Given the description of an element on the screen output the (x, y) to click on. 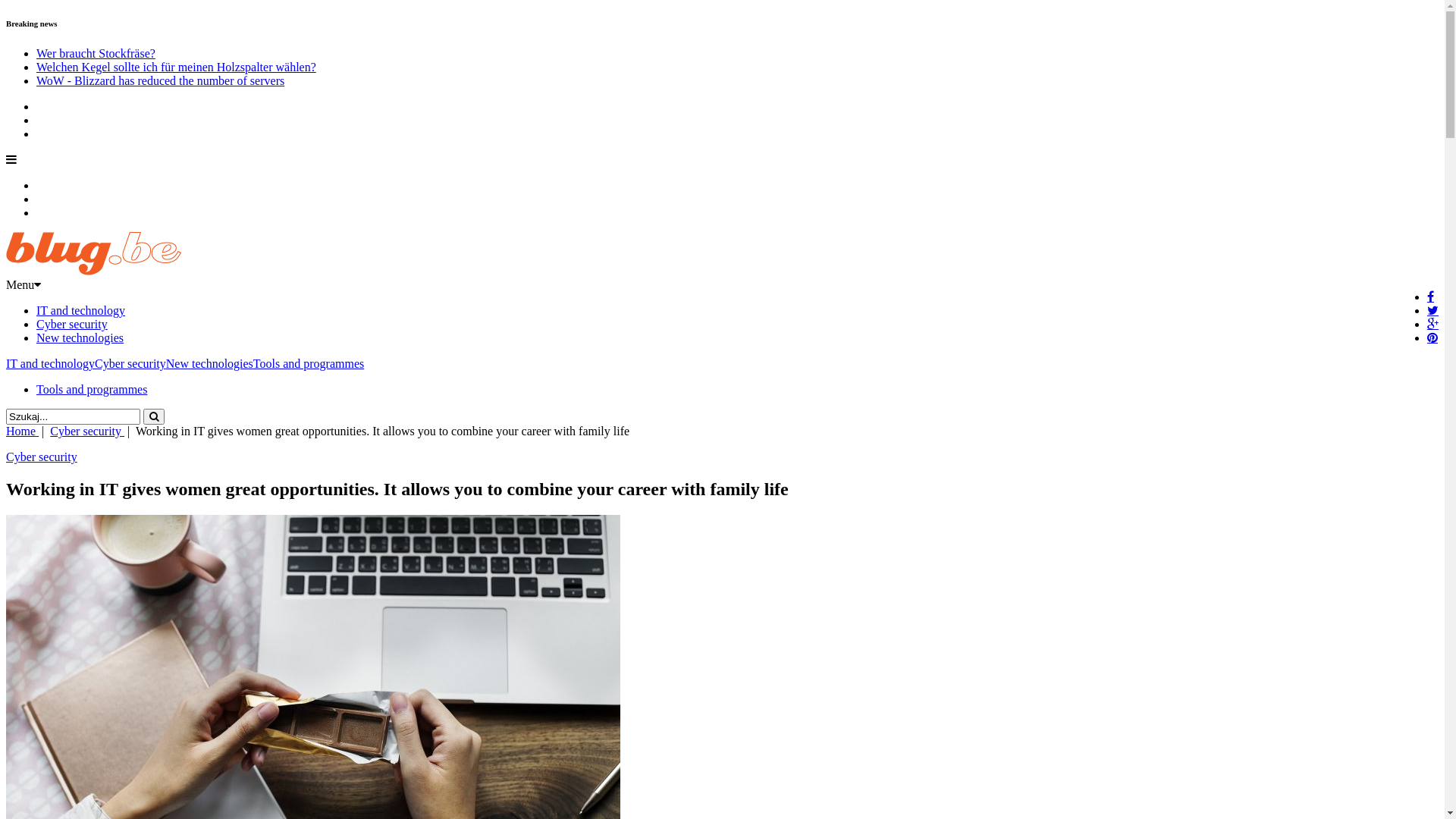
Cyber security Element type: text (87, 430)
Home Element type: text (22, 430)
Tools and programmes Element type: text (308, 363)
Tools and programmes Element type: text (91, 388)
Menu Element type: text (23, 284)
New technologies Element type: text (209, 363)
Cyber security Element type: text (130, 363)
Cyber security Element type: text (41, 456)
WoW - Blizzard has reduced the number of servers Element type: text (160, 80)
New technologies Element type: text (79, 337)
Cyber security Element type: text (71, 323)
IT and technology Element type: text (50, 363)
IT and technology Element type: text (80, 310)
